Given the description of an element on the screen output the (x, y) to click on. 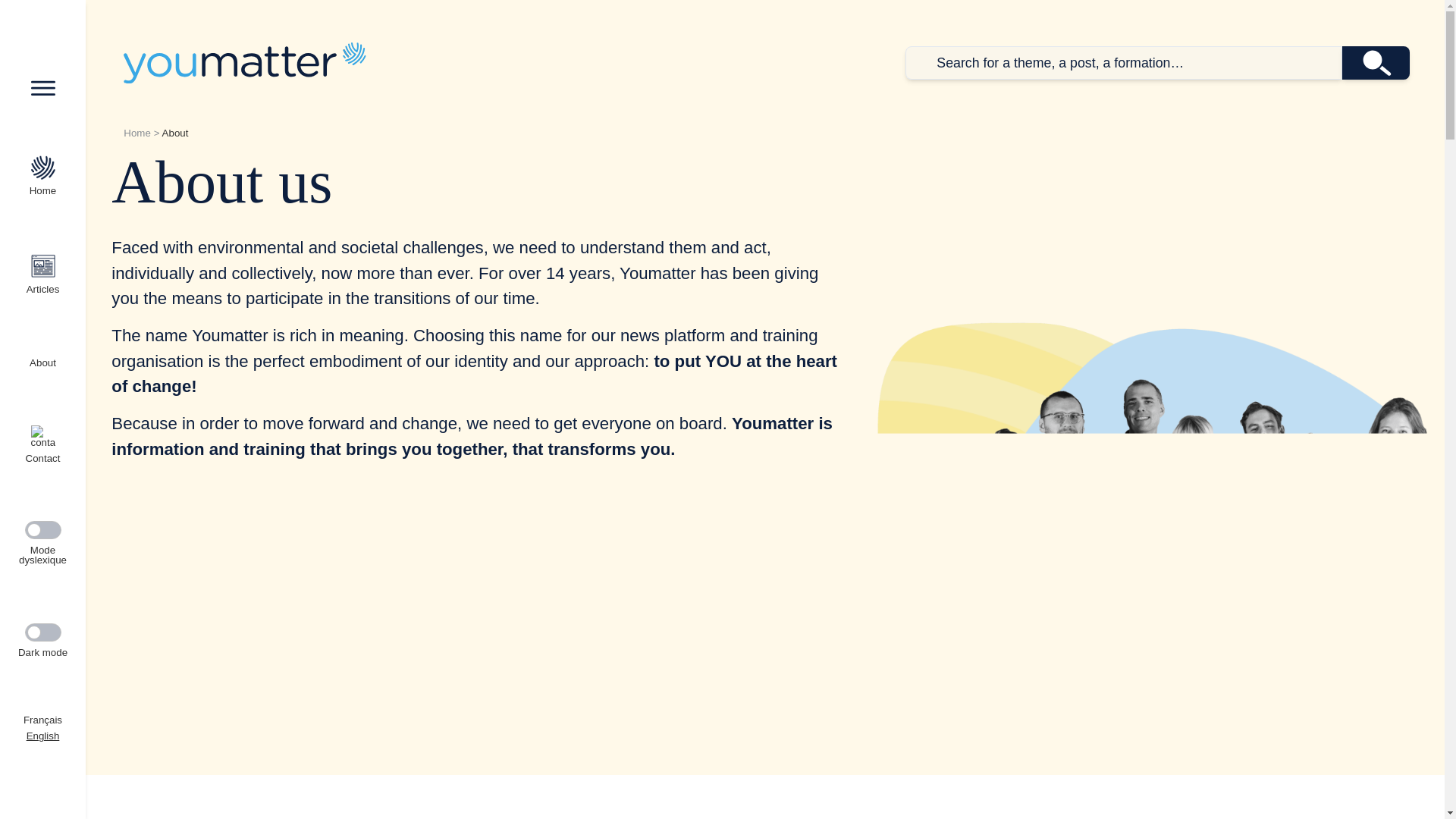
Home (244, 62)
on (42, 632)
About (42, 359)
Contact (42, 444)
Home (137, 132)
on (42, 529)
English (42, 736)
